Given the description of an element on the screen output the (x, y) to click on. 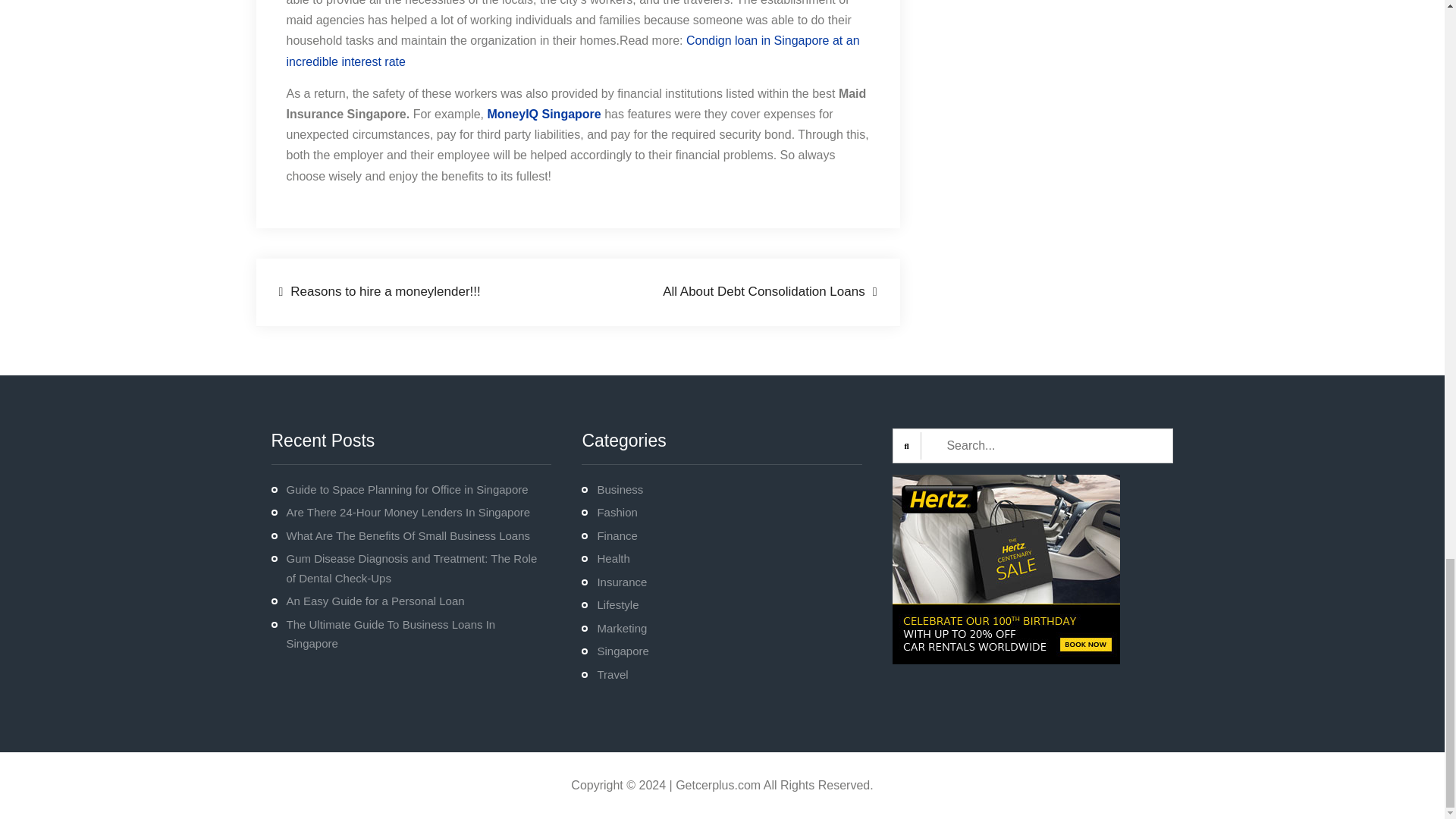
Reasons to hire a moneylender!!! (379, 292)
MoneyIQ Singapore (542, 113)
All About Debt Consolidation Loans (769, 292)
Condign loan in Singapore at an incredible interest rate (573, 50)
